Given the description of an element on the screen output the (x, y) to click on. 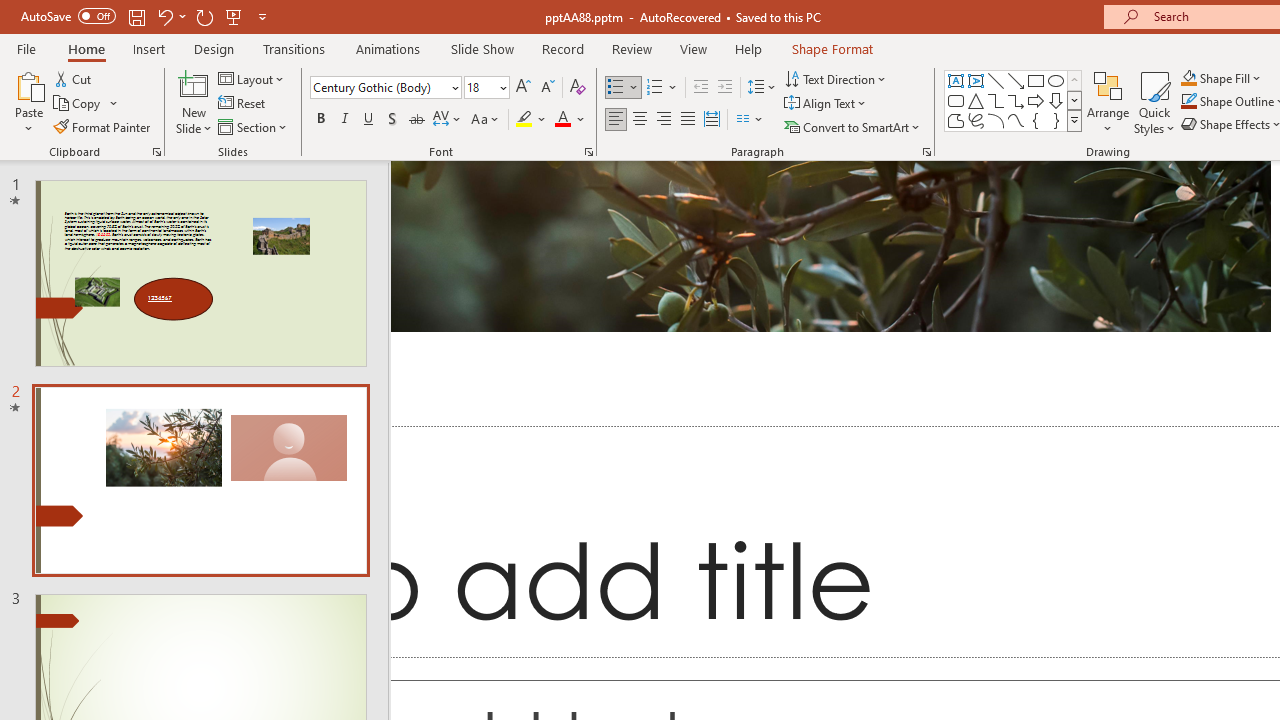
Curve (1016, 120)
Bullets (616, 87)
Paragraph... (926, 151)
Shadow (392, 119)
Decrease Font Size (547, 87)
File Tab (26, 48)
Copy (78, 103)
Center (639, 119)
New Slide (193, 102)
Office Clipboard... (156, 151)
Font (385, 87)
Close up of an olive branch on a sunset (830, 246)
Text Box (955, 80)
